Given the description of an element on the screen output the (x, y) to click on. 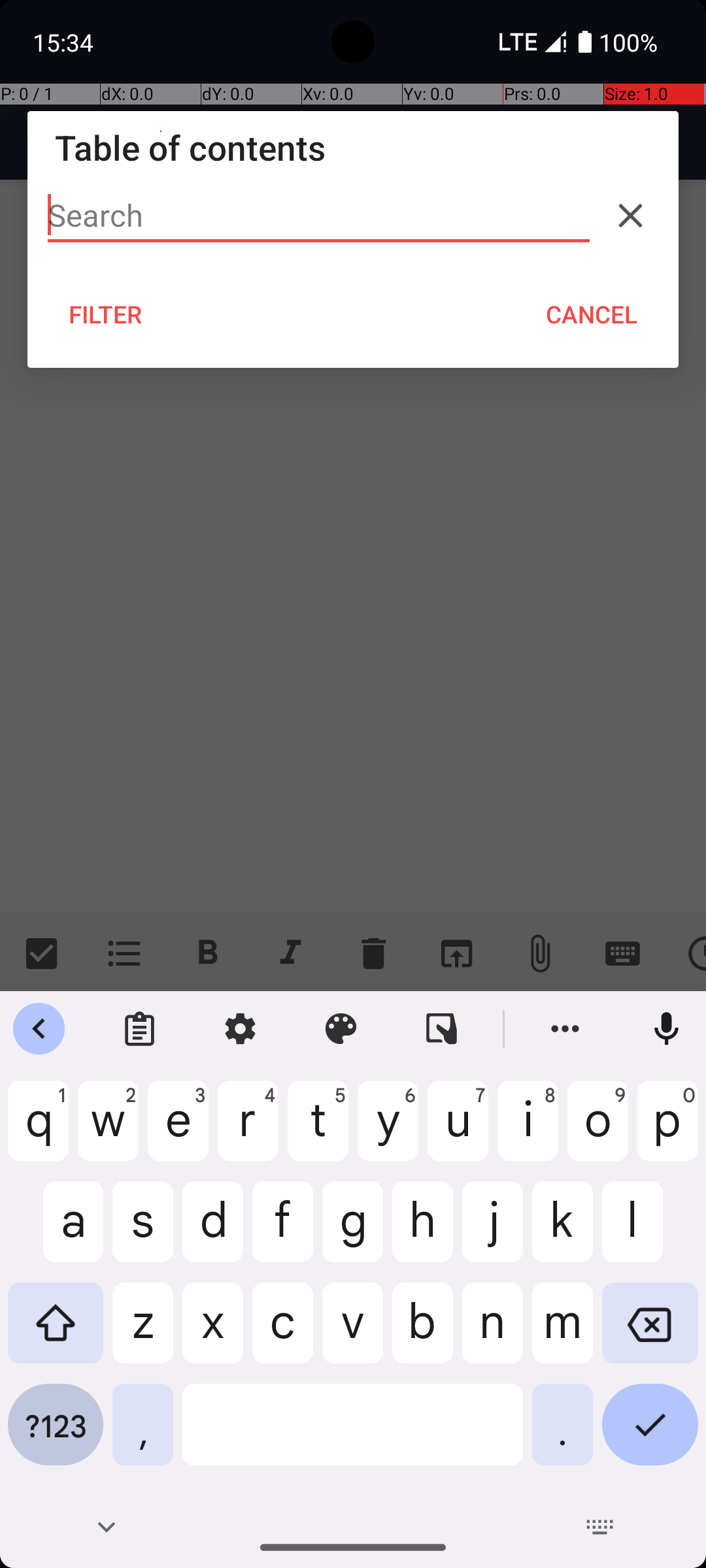
FILTER Element type: android.widget.Button (105, 313)
